Given the description of an element on the screen output the (x, y) to click on. 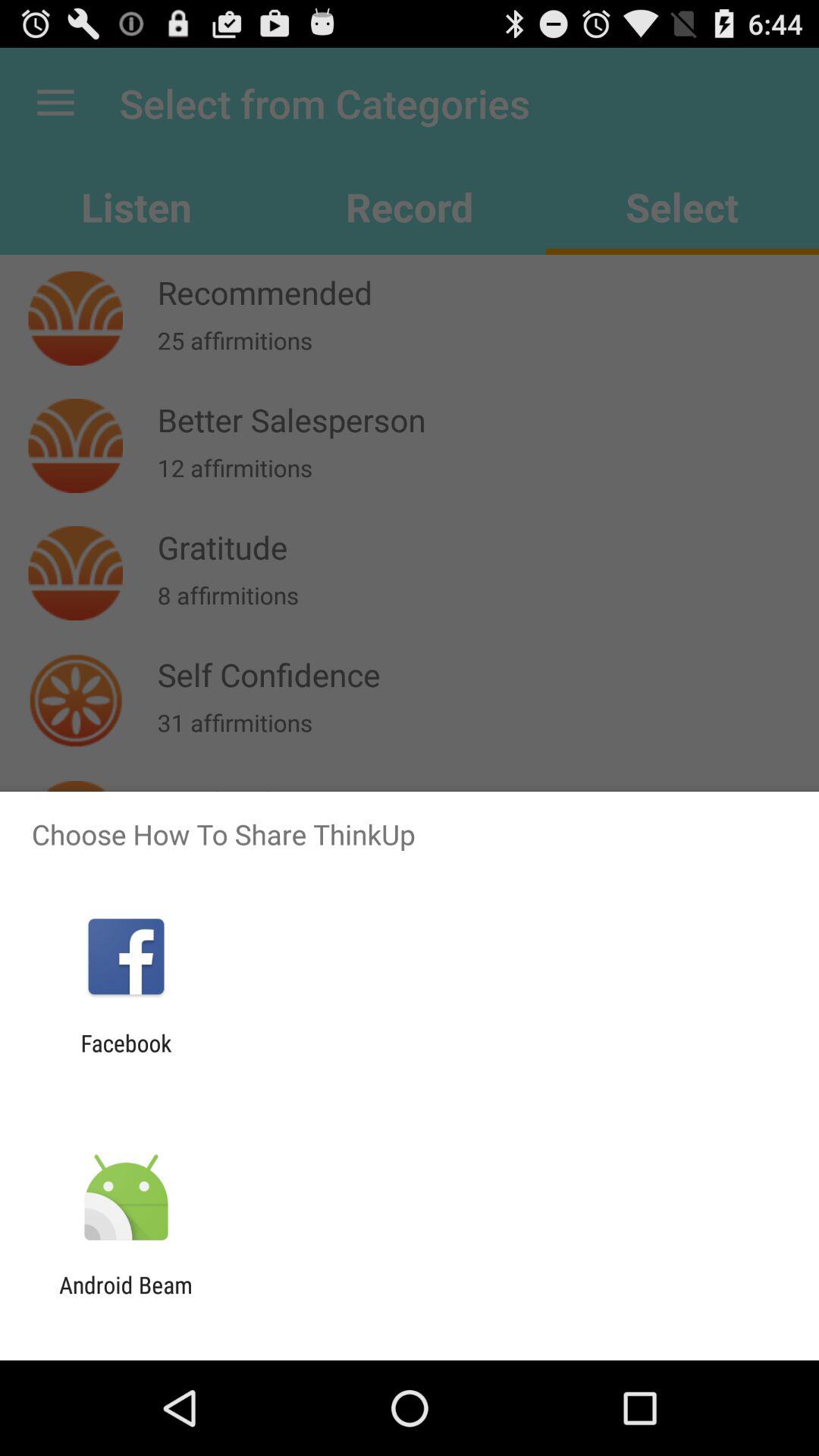
click the android beam app (125, 1298)
